Given the description of an element on the screen output the (x, y) to click on. 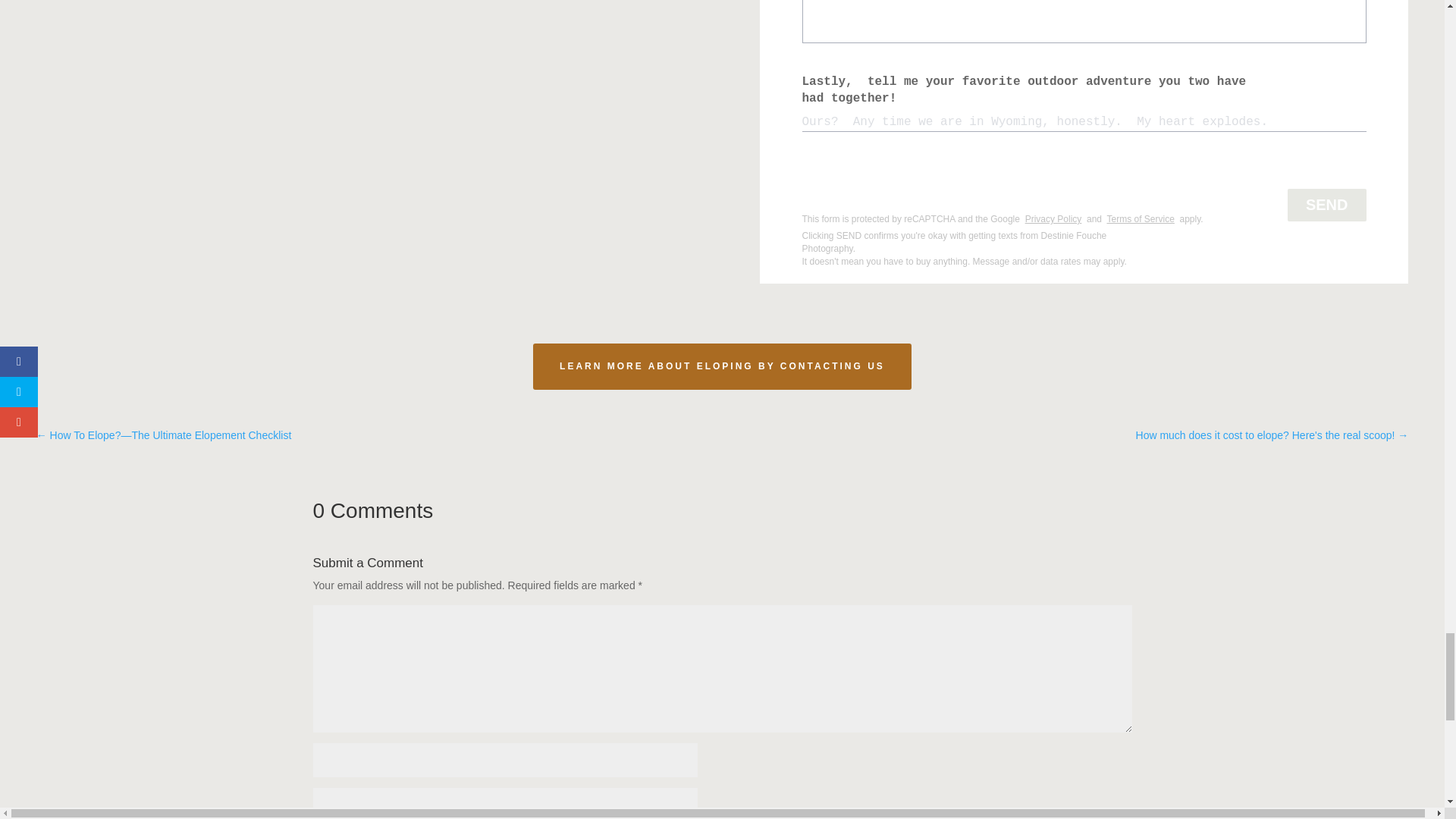
LEARN MORE ABOUT ELOPING BY CONTACTING US (721, 366)
